Given the description of an element on the screen output the (x, y) to click on. 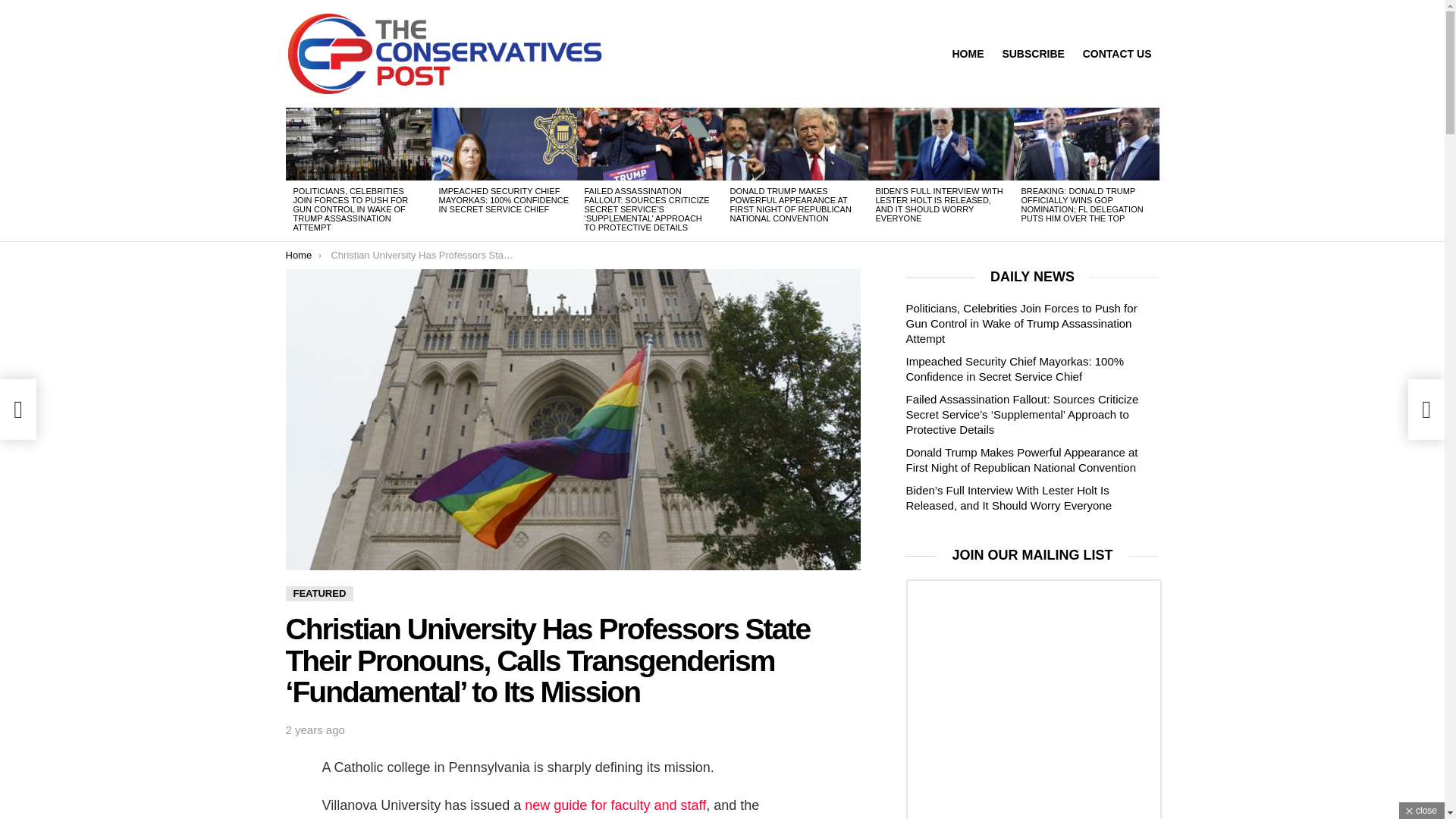
new guide for faculty and staff (615, 805)
August 29, 2022, 1:59 pm (314, 730)
HOME (967, 53)
SUBSCRIBE (1032, 53)
FEATURED (319, 593)
CONTACT US (1116, 53)
Home (298, 255)
